Given the description of an element on the screen output the (x, y) to click on. 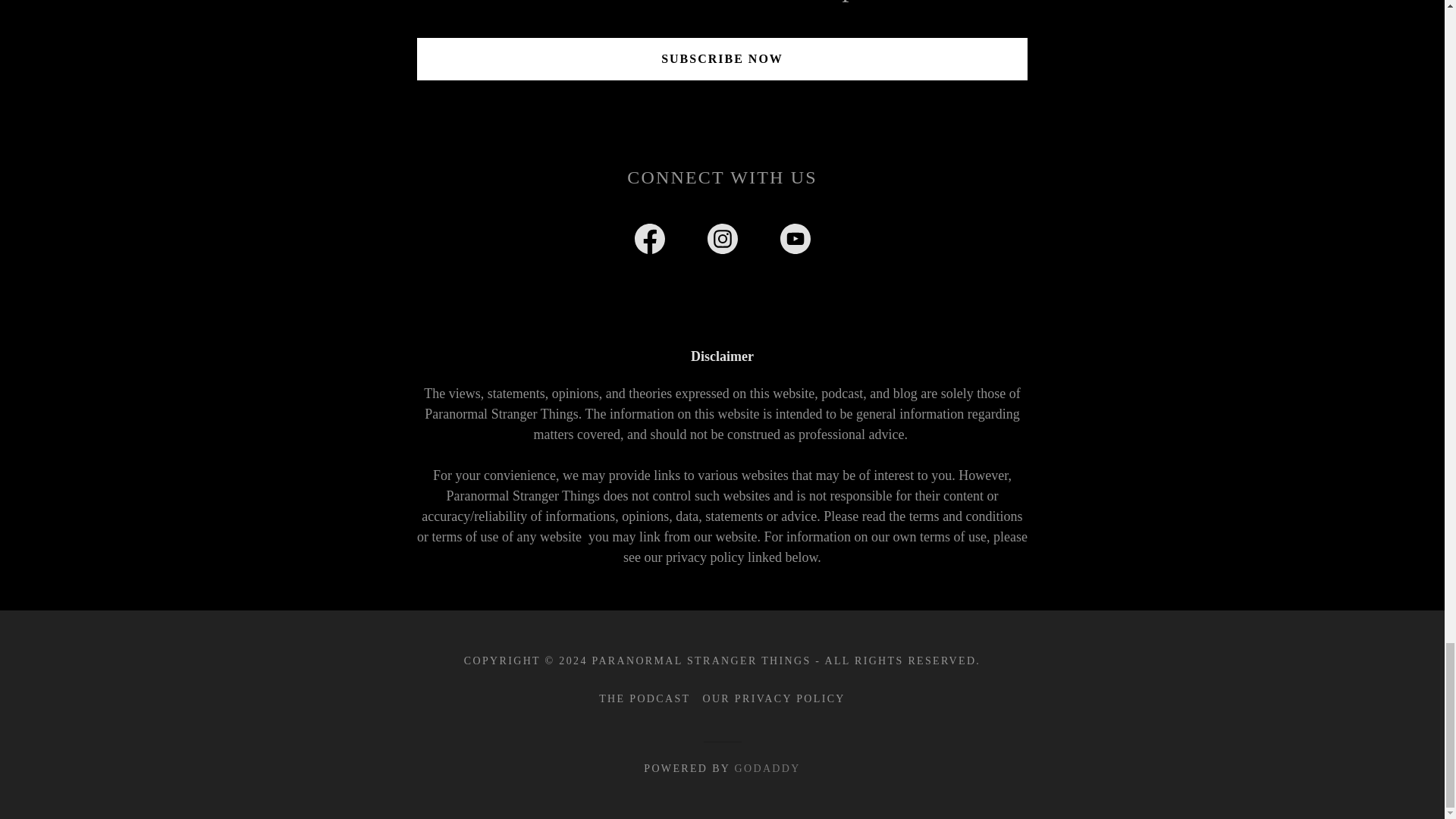
SUBSCRIBE NOW (721, 58)
